Given the description of an element on the screen output the (x, y) to click on. 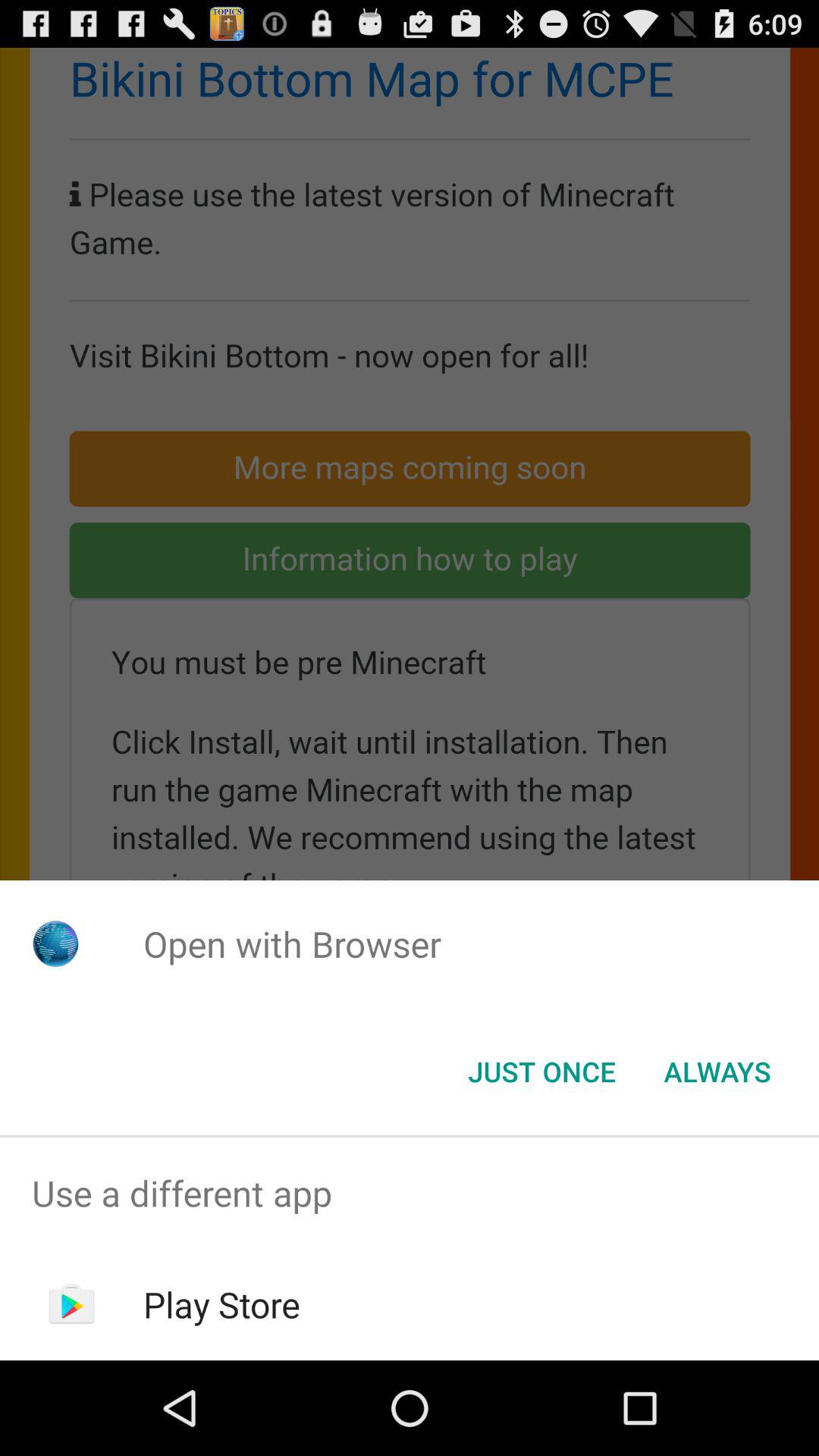
jump to the always (717, 1071)
